Given the description of an element on the screen output the (x, y) to click on. 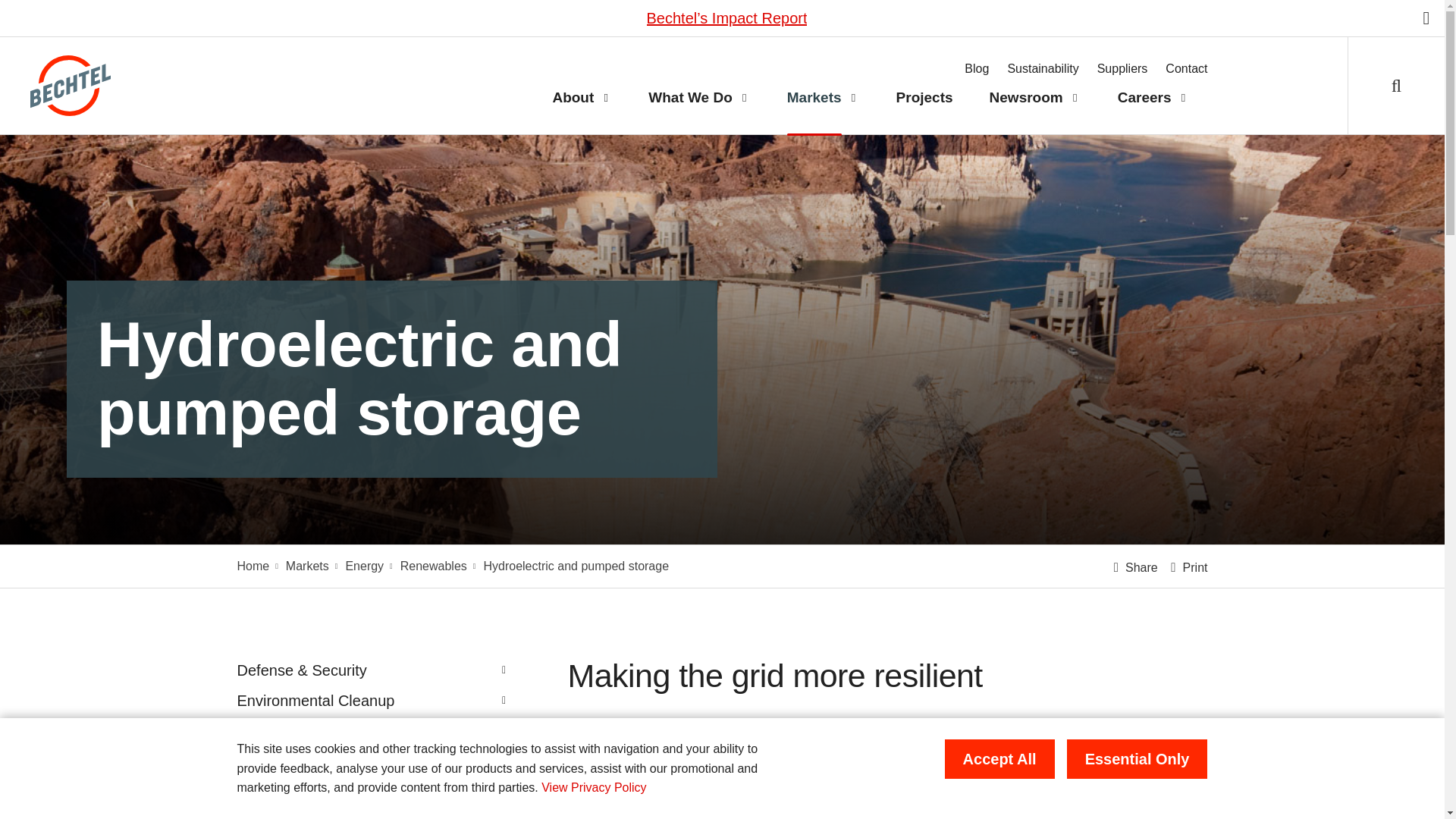
What We Do (681, 97)
Markets (804, 97)
Accept All (999, 758)
Sustainability (1042, 68)
Contact (1186, 68)
Essential Only (1137, 758)
Blog (975, 68)
View Privacy Policy (593, 787)
Suppliers (1122, 68)
